Given the description of an element on the screen output the (x, y) to click on. 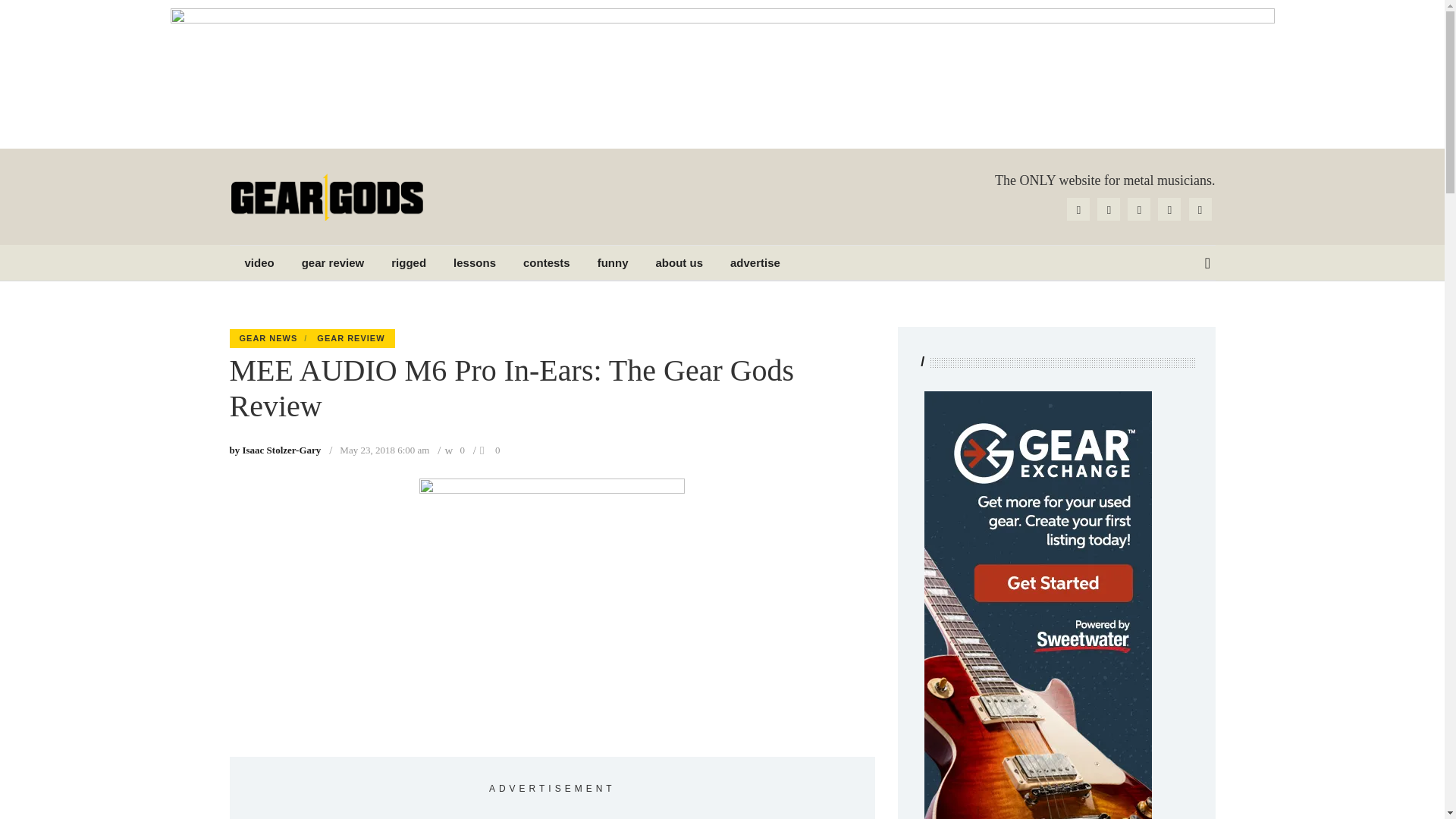
video (259, 262)
